Given the description of an element on the screen output the (x, y) to click on. 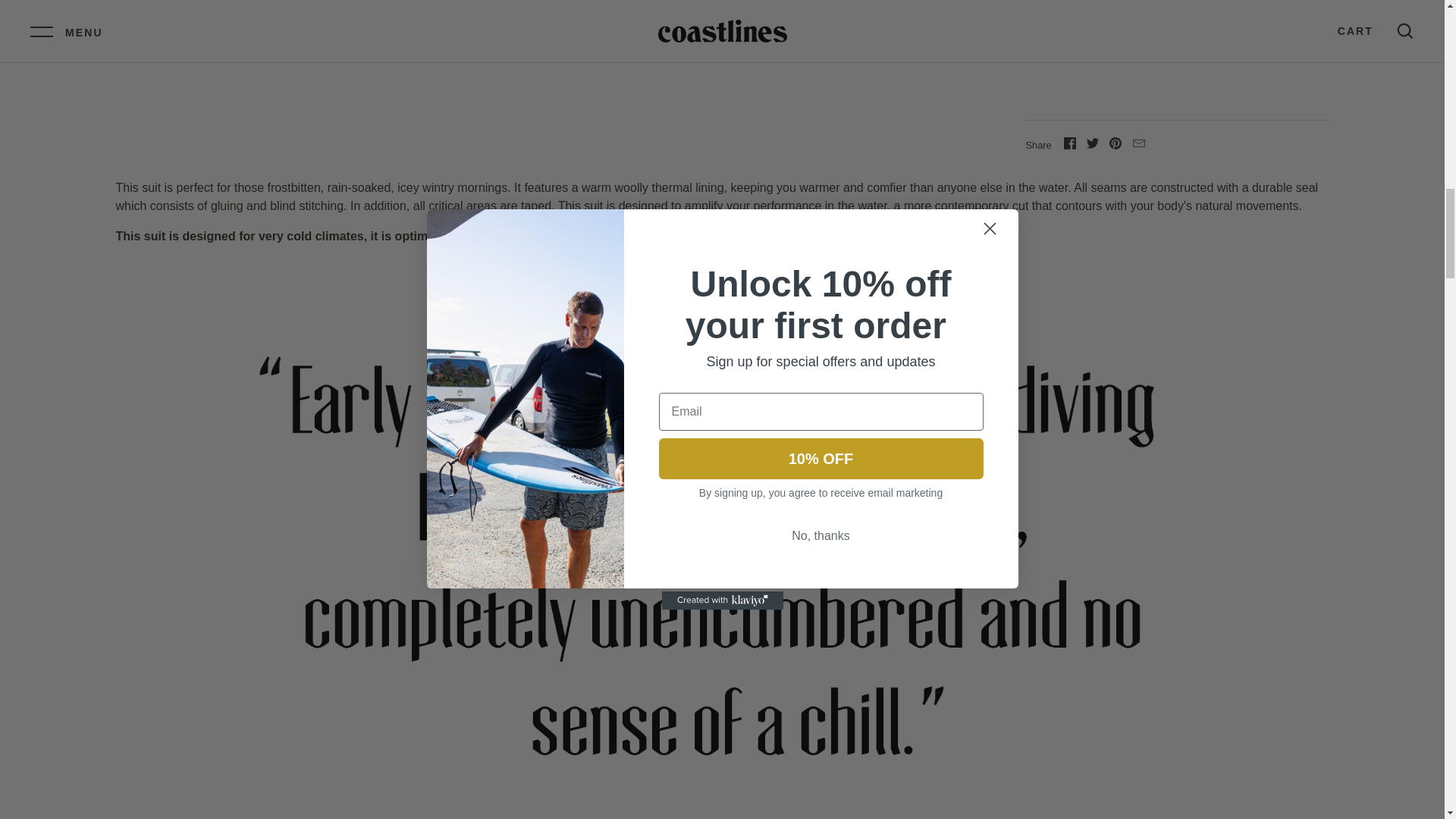
Email (1138, 143)
Facebook (1068, 143)
Twitter (1092, 143)
Pinterest (1115, 143)
